Given the description of an element on the screen output the (x, y) to click on. 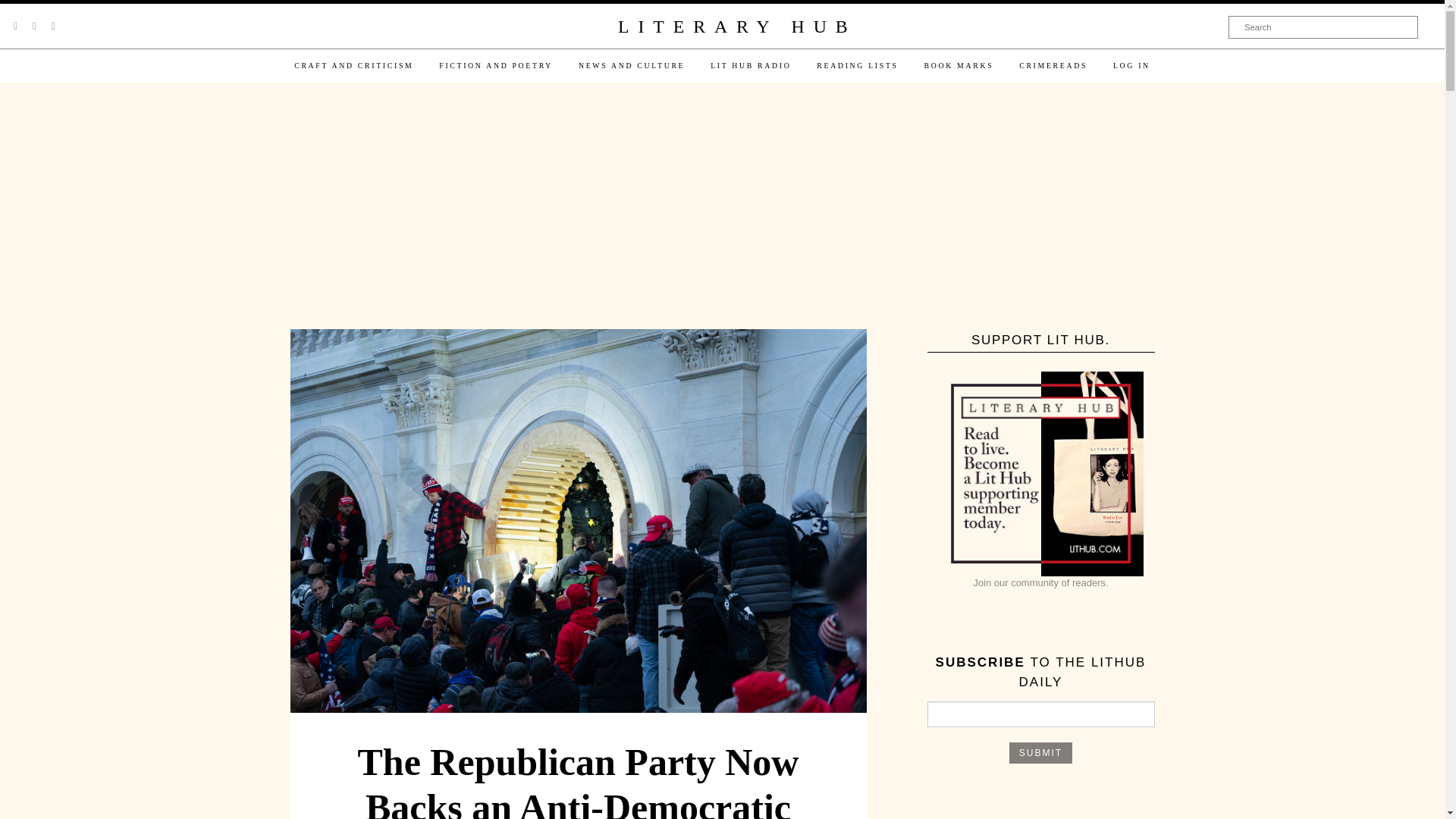
Search (1323, 26)
Twitter (15, 25)
LITERARY HUB (736, 26)
FICTION AND POETRY (496, 65)
Facebook (34, 25)
NEWS AND CULTURE (631, 65)
Instagram (52, 25)
CRAFT AND CRITICISM (353, 65)
